Given the description of an element on the screen output the (x, y) to click on. 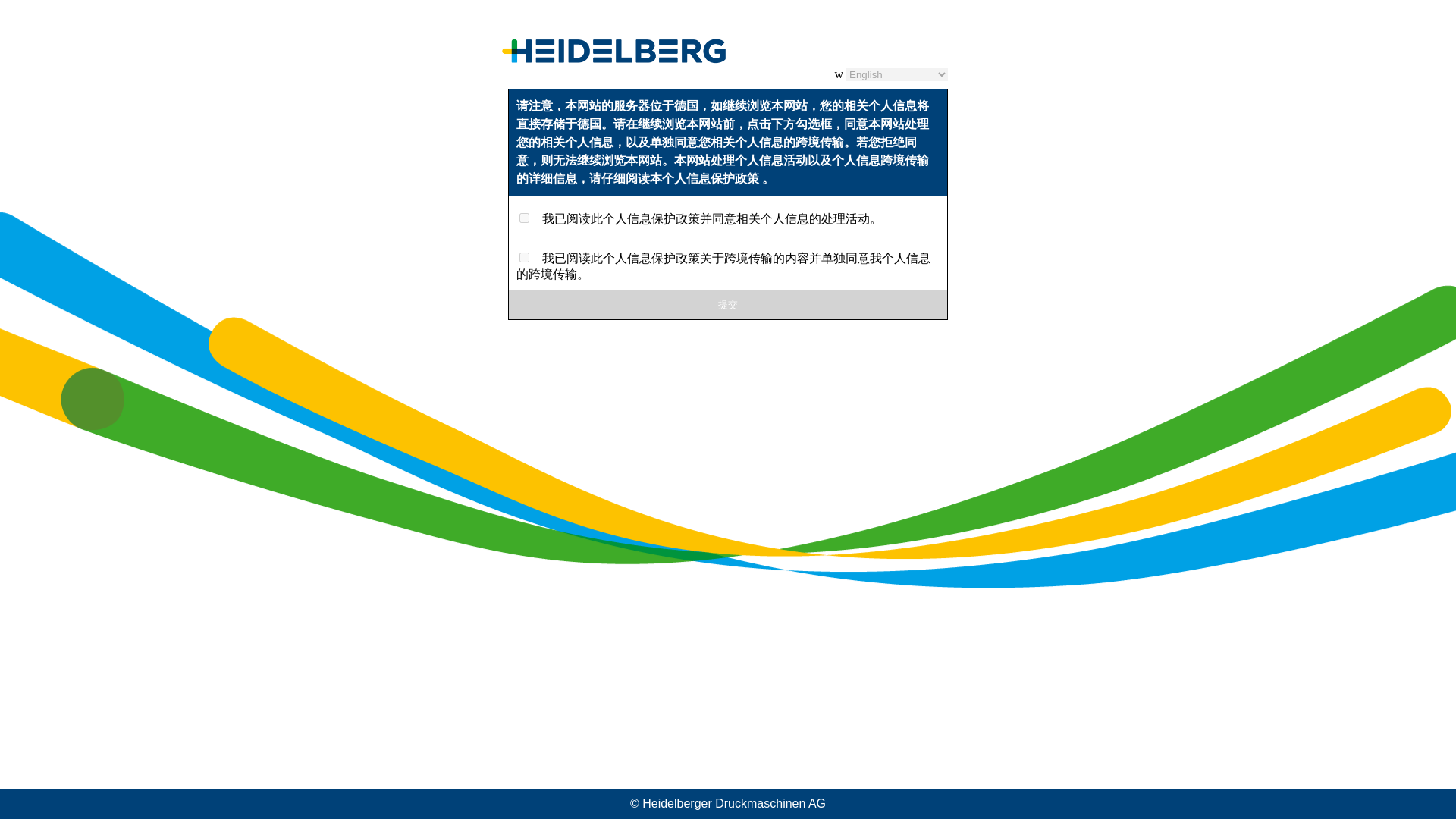
on (524, 217)
on (524, 257)
